Given the description of an element on the screen output the (x, y) to click on. 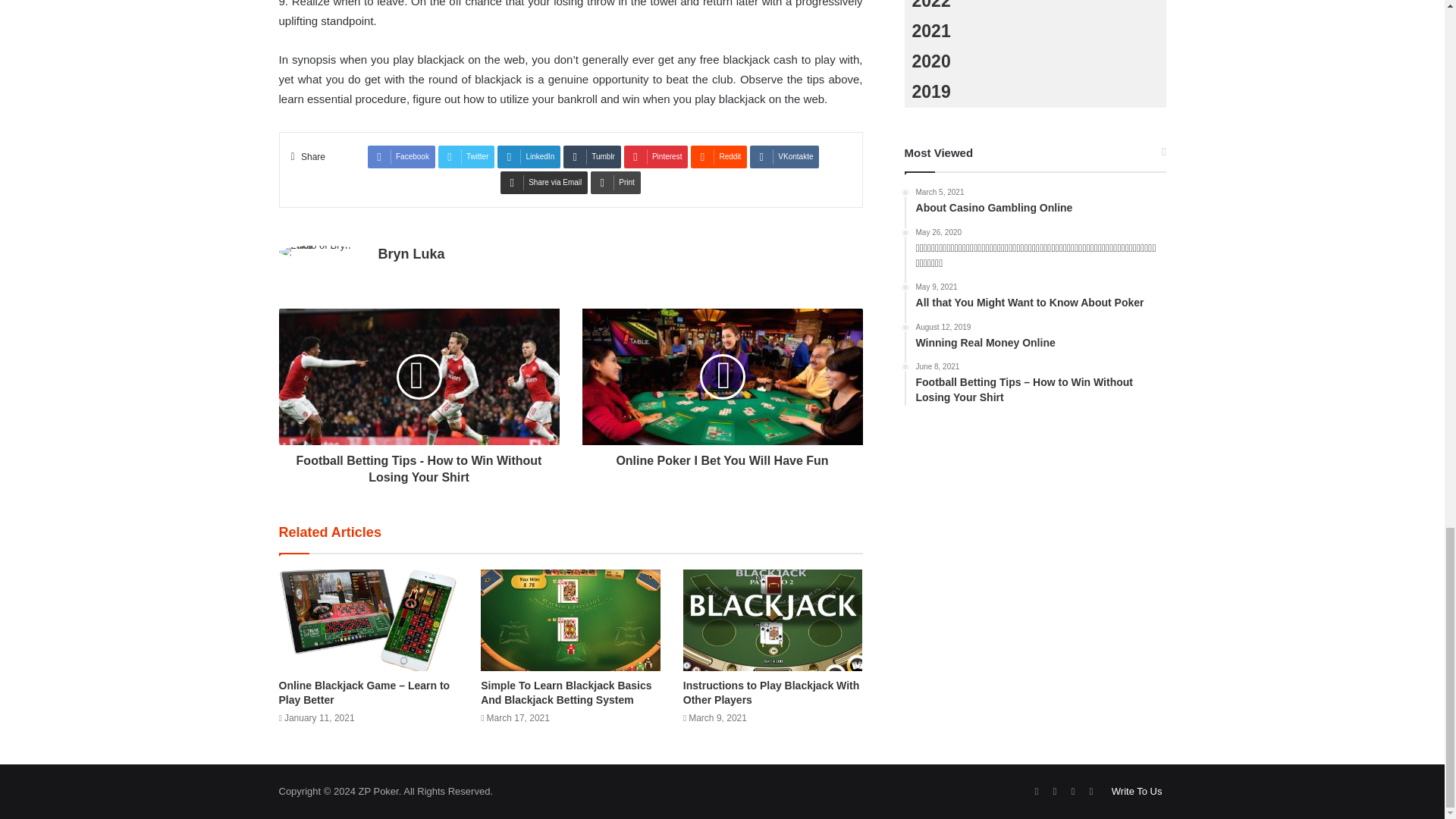
Share via Email (544, 182)
Reddit (718, 156)
Tumblr (592, 156)
VKontakte (783, 156)
Print (615, 182)
Twitter (466, 156)
Facebook (401, 156)
Pinterest (655, 156)
LinkedIn (528, 156)
